Given the description of an element on the screen output the (x, y) to click on. 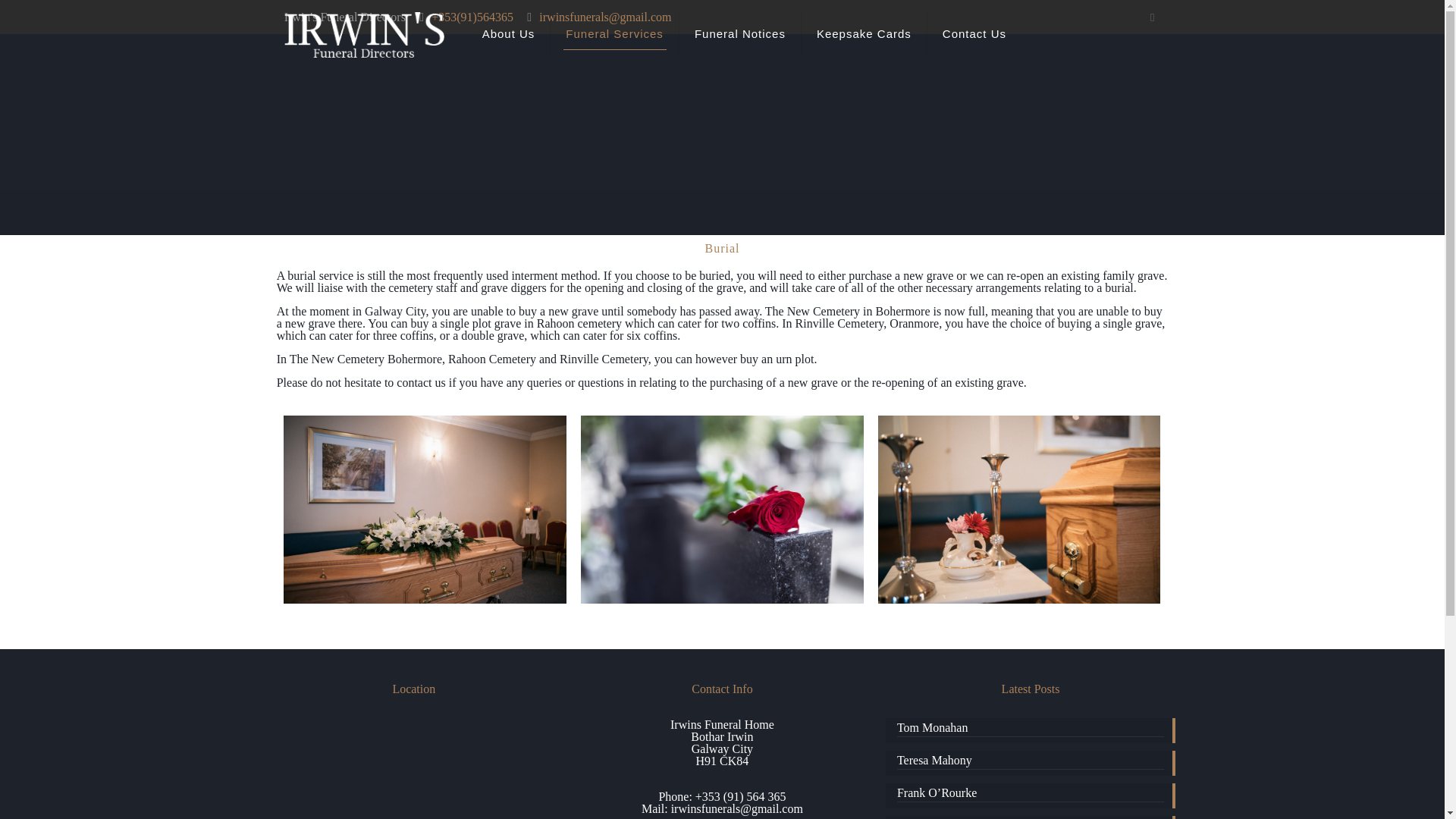
Funeral Notices (740, 33)
Teresa Mahony (1029, 761)
Instagram (1152, 17)
About Us (509, 33)
Irwins Funeral Home (363, 33)
Funeral Services (614, 33)
Tom Monahan (1029, 729)
Keepsake Cards (864, 33)
Contact Us (974, 33)
